Given the description of an element on the screen output the (x, y) to click on. 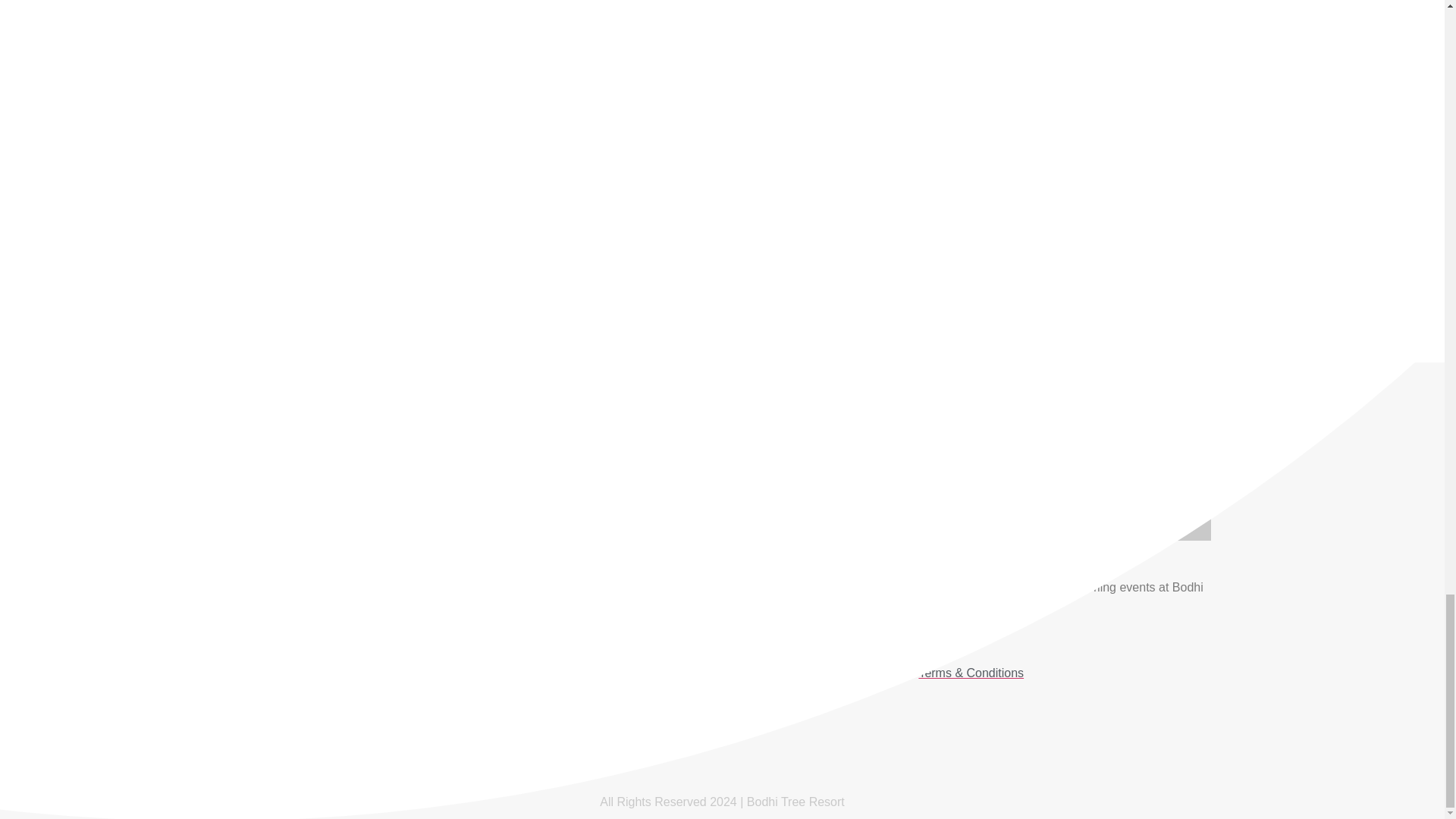
Wendy De Rosa's  website (721, 178)
Wendy De Rosa's  Bio (721, 227)
Wendy De Rosa's  email (721, 202)
Wendy De Rosa's facebook (684, 154)
Wendy De Rosa's instagram (760, 154)
